Given the description of an element on the screen output the (x, y) to click on. 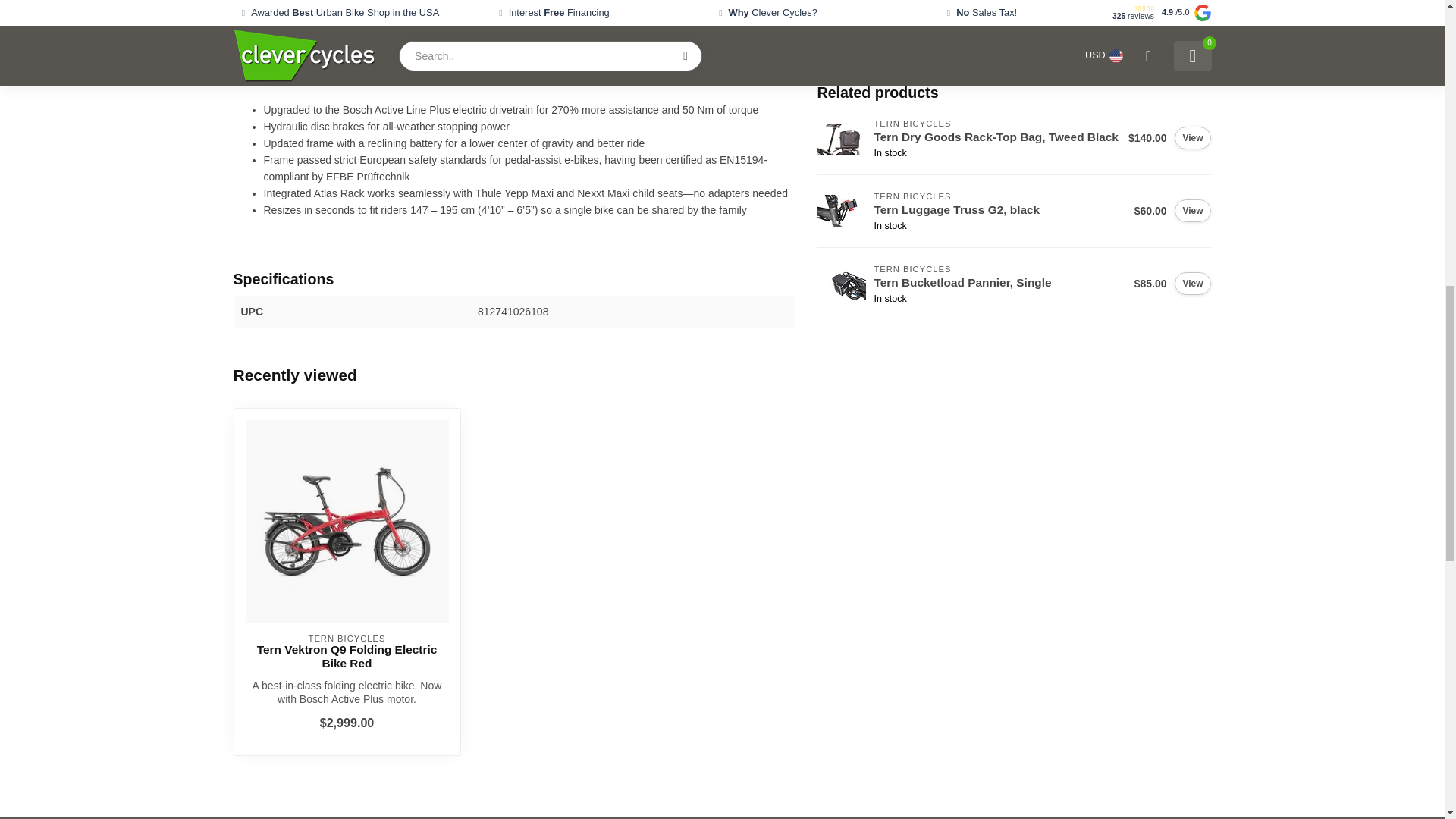
Tern Bicycles Tern Bucketload Pannier, Single (841, 283)
Tern Bicycles Tern Dry Goods Rack-Top Bag, Tweed Black (841, 137)
Tern Bicycles Tern Vektron Q9 Folding Electric Bike Red (347, 521)
Tern Bicycles Tern Vektron Q9 Folding Electric Bike Red (347, 656)
Tern Bicycles Tern Luggage Truss G2, black (841, 210)
